Given the description of an element on the screen output the (x, y) to click on. 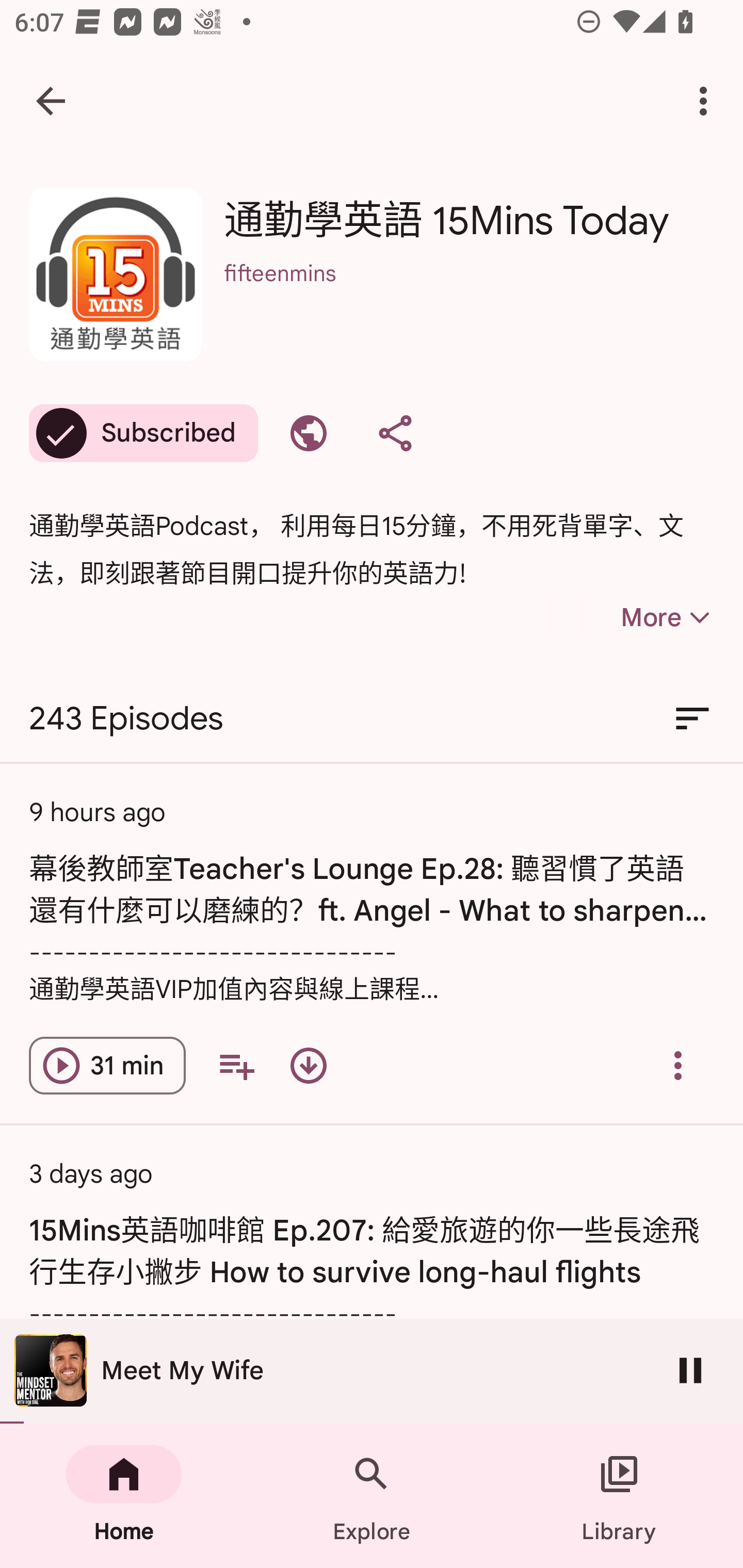
Navigate up (50, 101)
More options (706, 101)
fifteenmins (468, 300)
Subscribed (142, 433)
Visit website (308, 433)
Share (395, 433)
More (631, 616)
Sort (692, 718)
Add to your queue (235, 1065)
Download episode (308, 1065)
Overflow menu (677, 1065)
The Mindset Mentor Meet My Wife Pause 319.0 (371, 1370)
Pause (690, 1370)
Explore (371, 1495)
Library (619, 1495)
